Given the description of an element on the screen output the (x, y) to click on. 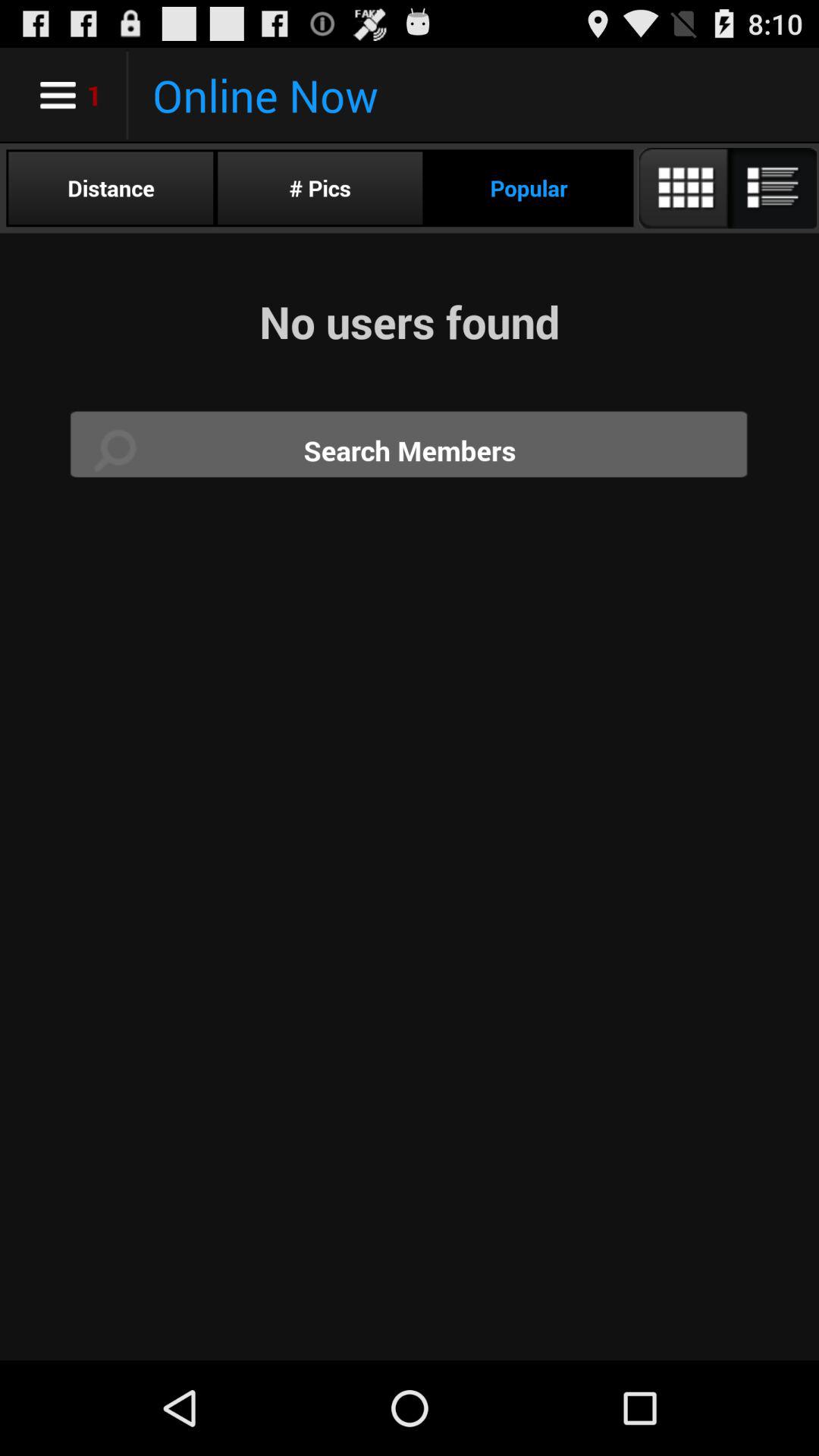
search for members (409, 450)
